Given the description of an element on the screen output the (x, y) to click on. 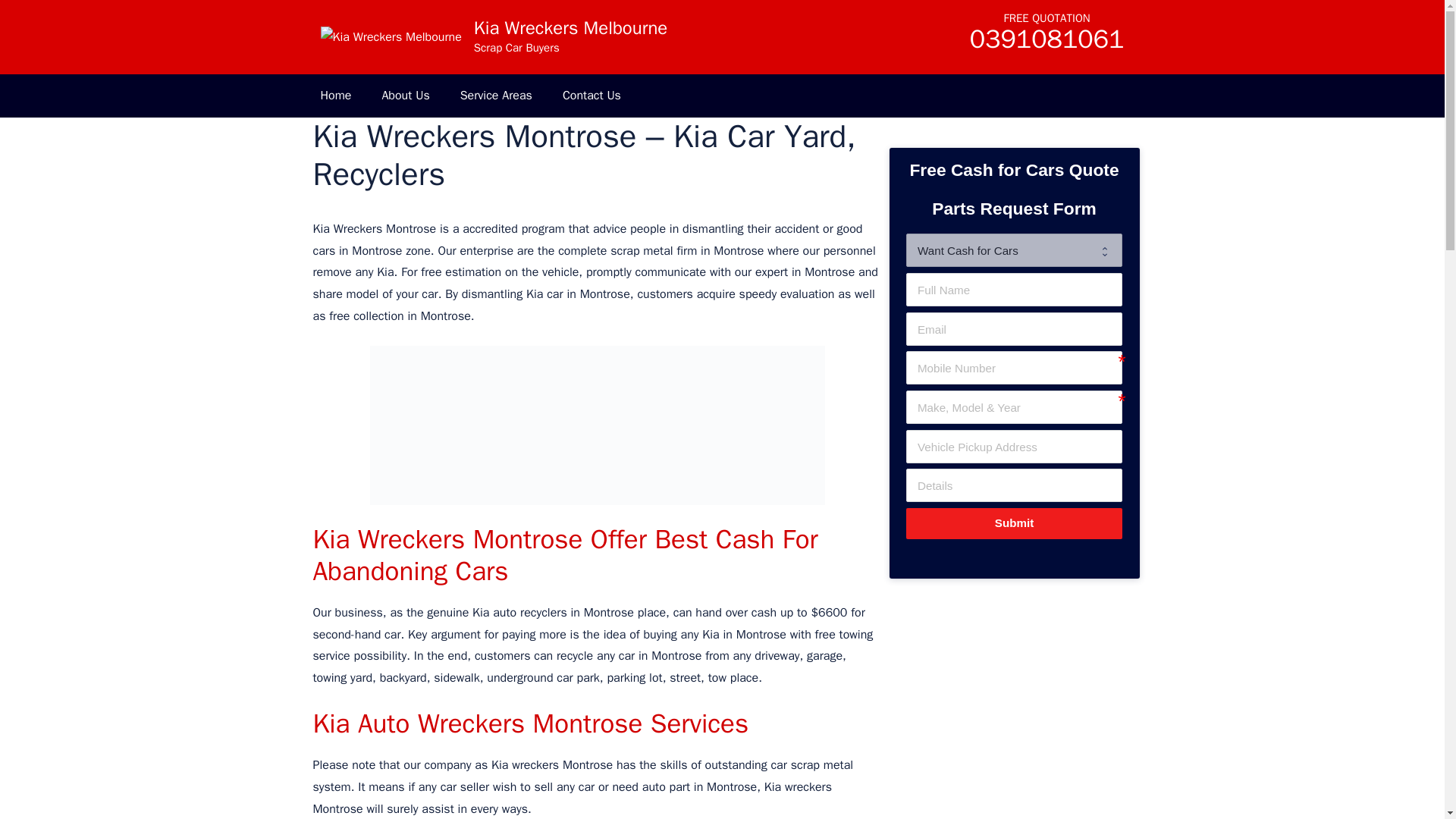
Contact Us (591, 95)
Submit (1013, 522)
Kia Wreckers Melbourne (390, 37)
Kia Wreckers Montrose - Kia Car Yard, Recyclers Montrose (597, 425)
About Us (405, 95)
Kia Wreckers Melbourne (570, 27)
0391081061 (1046, 44)
Service Areas (496, 95)
Home (335, 95)
Kia Wreckers Melbourne (390, 36)
